Given the description of an element on the screen output the (x, y) to click on. 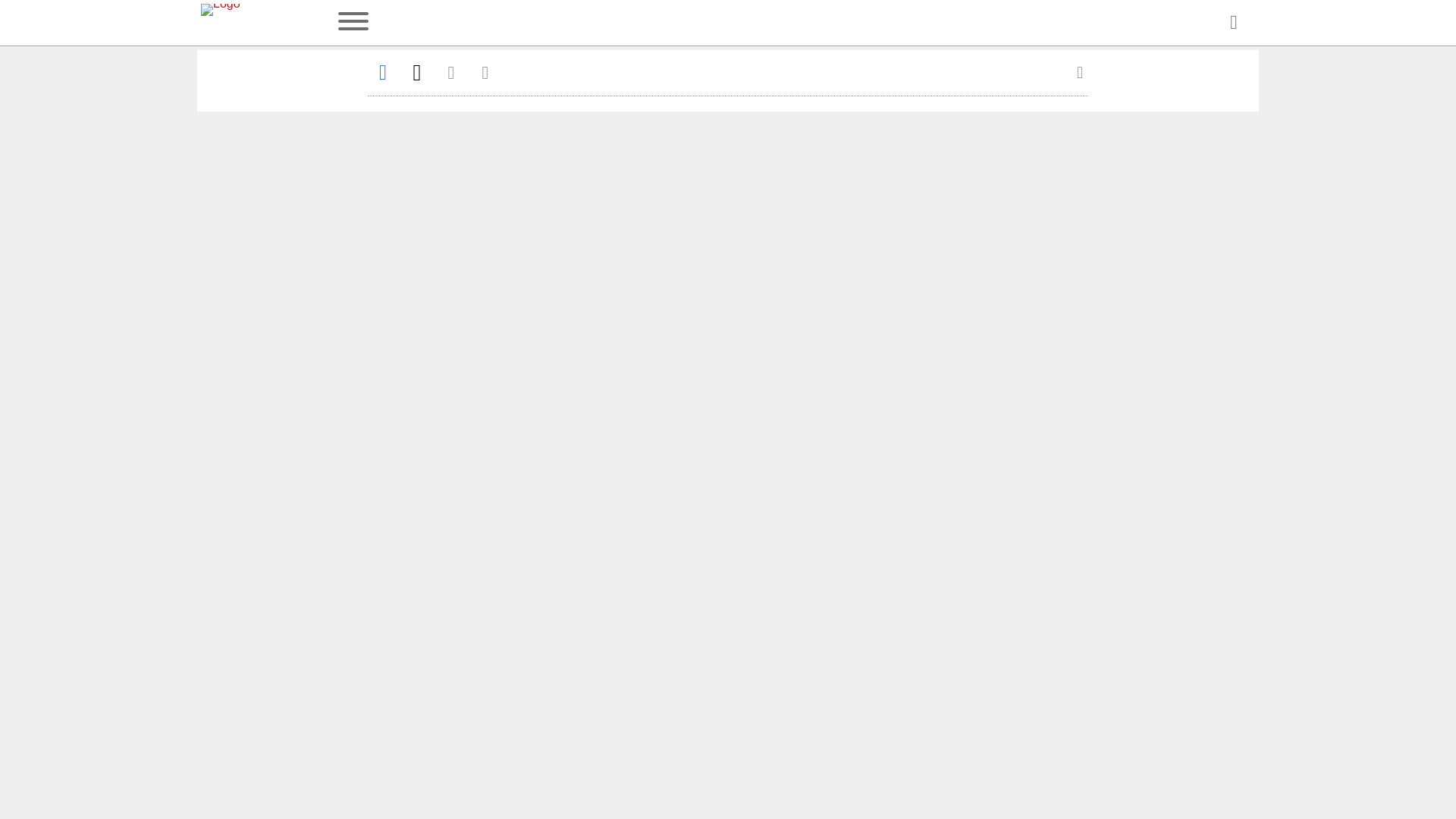
Share on Facebook (382, 72)
menu (353, 22)
Open search (1233, 22)
Copy link (485, 72)
Share via mail (450, 72)
Share on Twitter (416, 72)
